Given the description of an element on the screen output the (x, y) to click on. 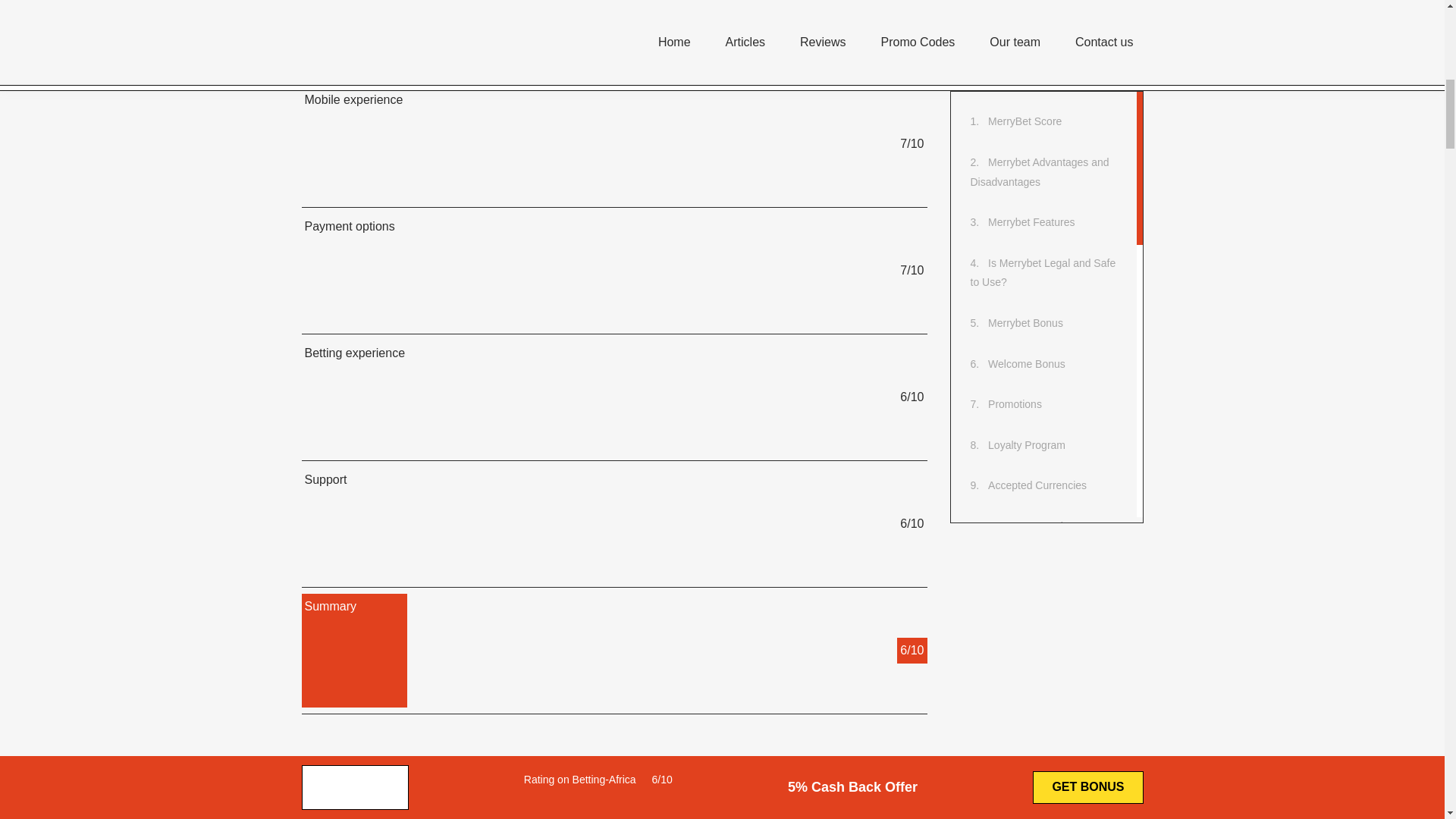
Casino Products (1033, 258)
Baccarat (1015, 339)
Available Sports (1032, 542)
Available in These Countries (1025, 593)
Tips for Successful Predictions (1027, 167)
Other Products (1029, 420)
How to Deposit (1029, 16)
How to Bet (1019, 117)
How to Withdraw (1034, 217)
Customer Support (1037, 643)
Number Games (1031, 502)
Lucky Six (1016, 461)
Blackjack (1016, 299)
Jackpot 3x3 (1022, 380)
Affiliate Program (1033, 684)
